Given the description of an element on the screen output the (x, y) to click on. 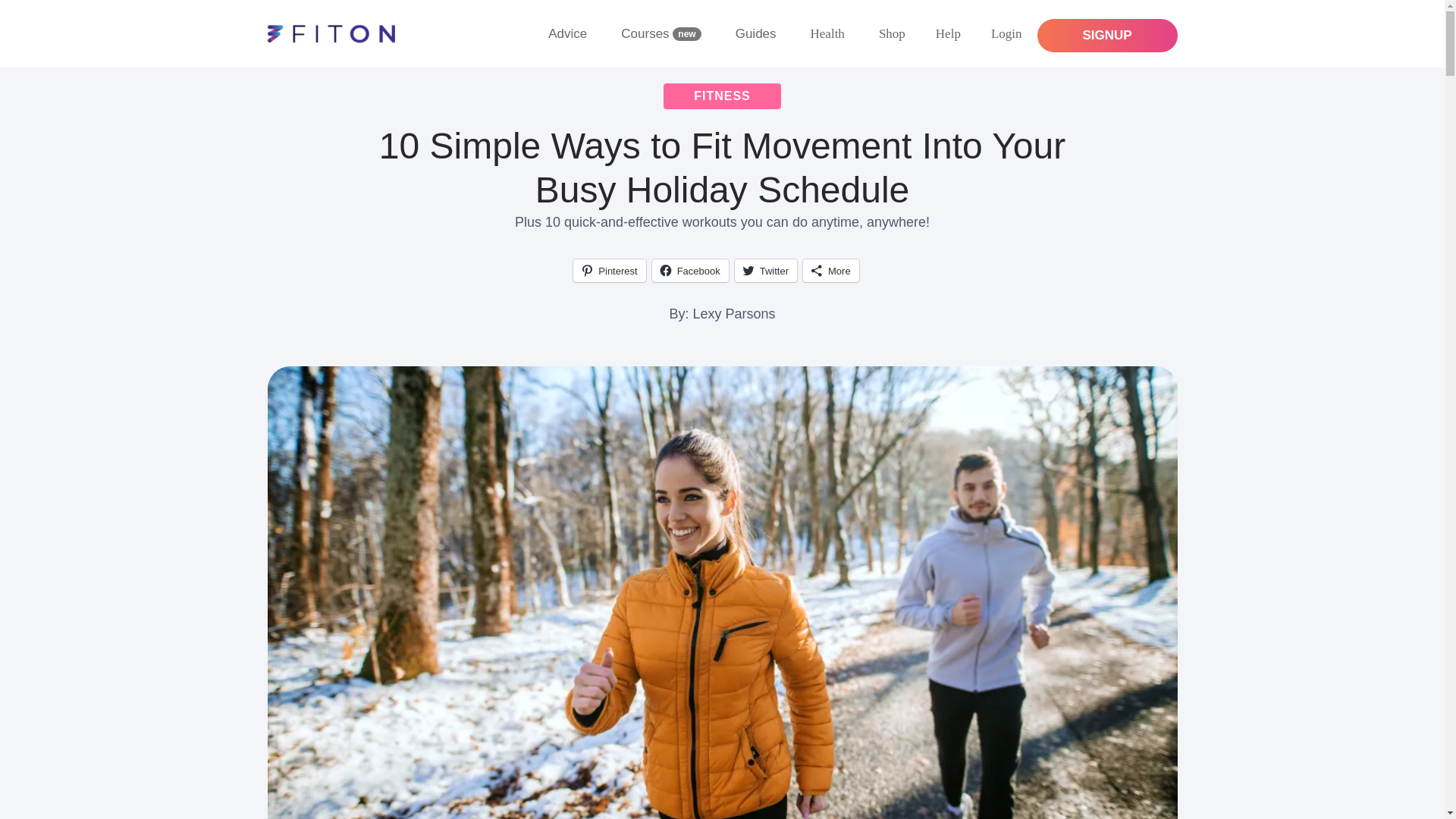
Click to share on Twitter (765, 270)
Click to share on Pinterest (609, 270)
Advice (568, 32)
Courses new (662, 32)
Guides (757, 32)
Click to share on Facebook (690, 270)
Health (827, 32)
Health (828, 32)
